Given the description of an element on the screen output the (x, y) to click on. 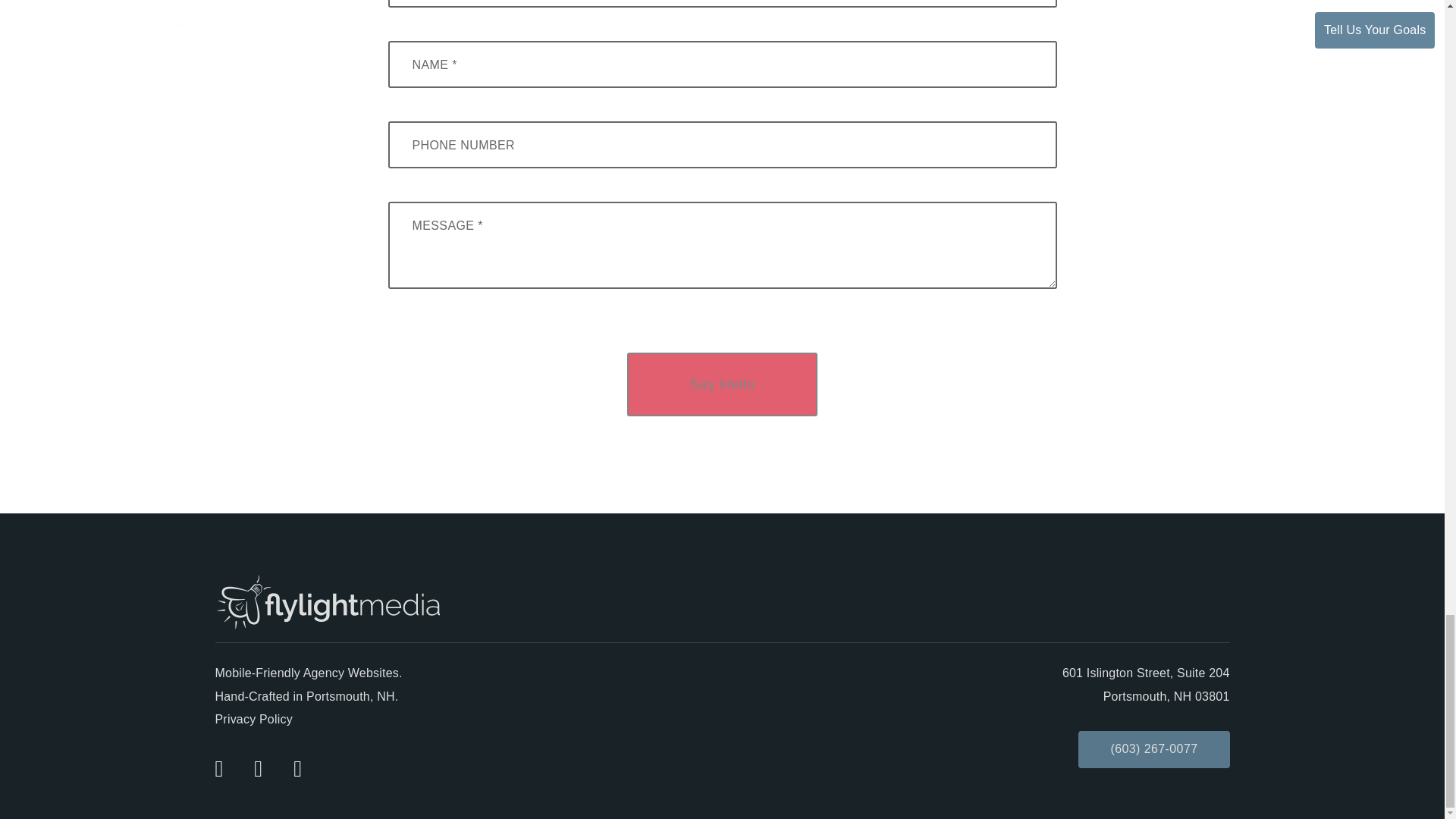
Say Hello (721, 384)
Privacy Policy (253, 718)
Say Hello (721, 384)
Privacy Policy (253, 718)
